Given the description of an element on the screen output the (x, y) to click on. 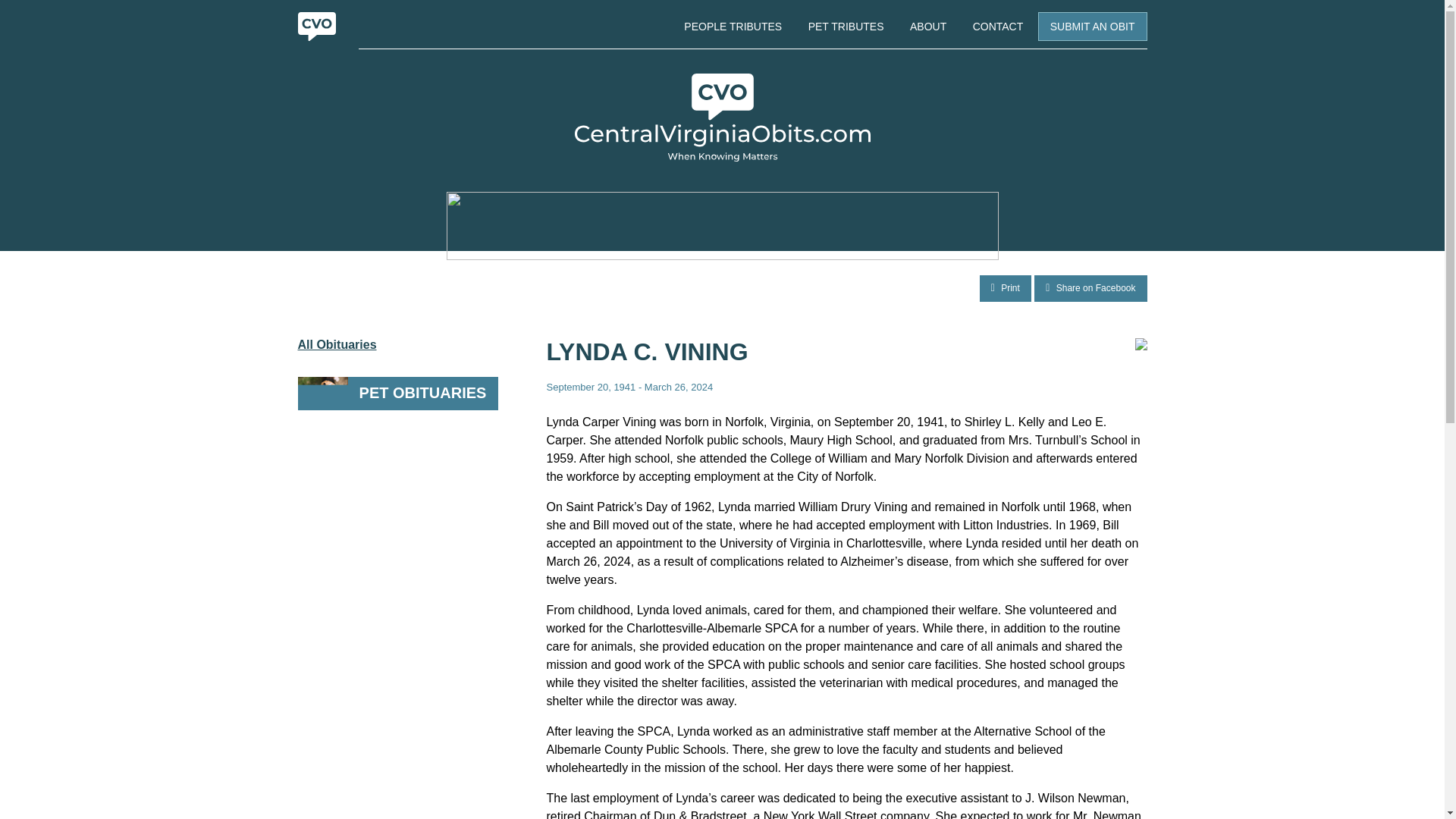
SUBMIT AN OBIT (1092, 26)
Share on Facebook (1090, 288)
ABOUT (928, 26)
CONTACT (997, 26)
Print (1004, 288)
LYNDA C. VINING (647, 351)
PET TRIBUTES (845, 26)
PET OBITUARIES (397, 393)
All Obituaries (397, 345)
PEOPLE TRIBUTES (732, 26)
